Given the description of an element on the screen output the (x, y) to click on. 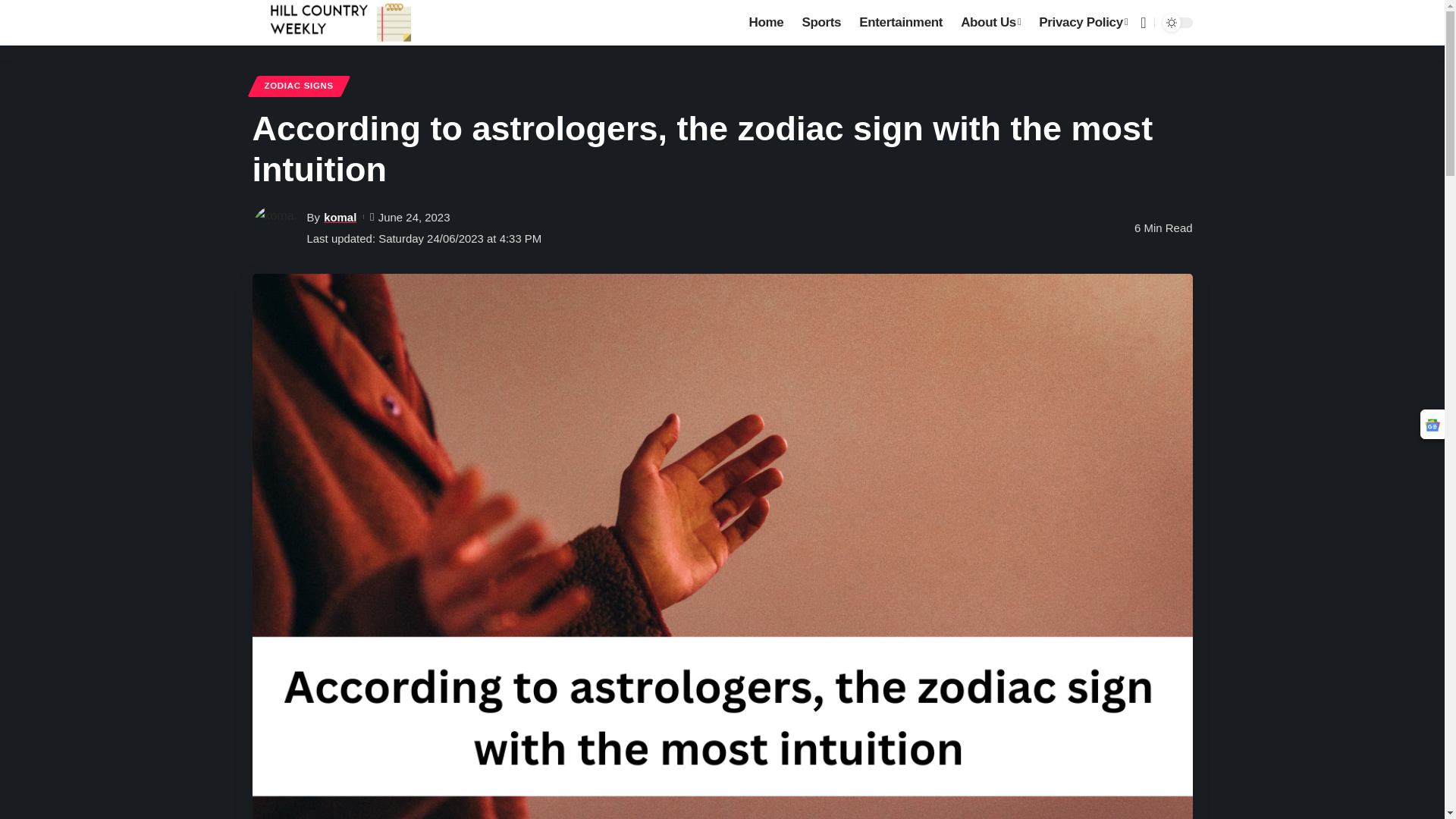
Sports (821, 22)
Entertainment (901, 22)
komal (339, 217)
Home (766, 22)
Hill Country Weekly (339, 22)
About Us (990, 22)
Privacy Policy (1083, 22)
ZODIAC SIGNS (298, 86)
